Given the description of an element on the screen output the (x, y) to click on. 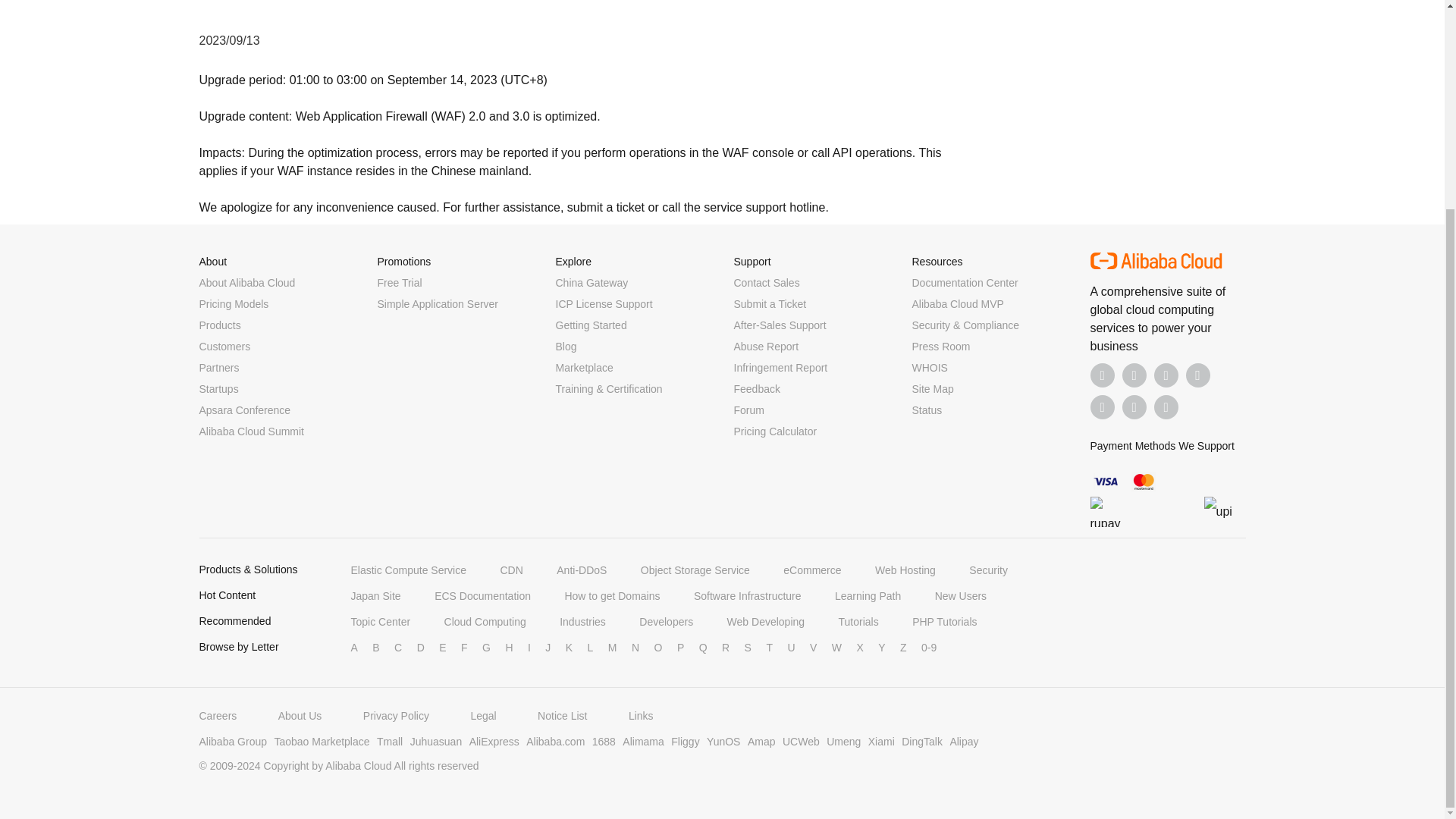
Twitter (1165, 375)
TikTok (1102, 406)
Call Us Now (1165, 406)
Linkedin (1134, 375)
YouTube (1197, 375)
Facebook (1102, 375)
